Given the description of an element on the screen output the (x, y) to click on. 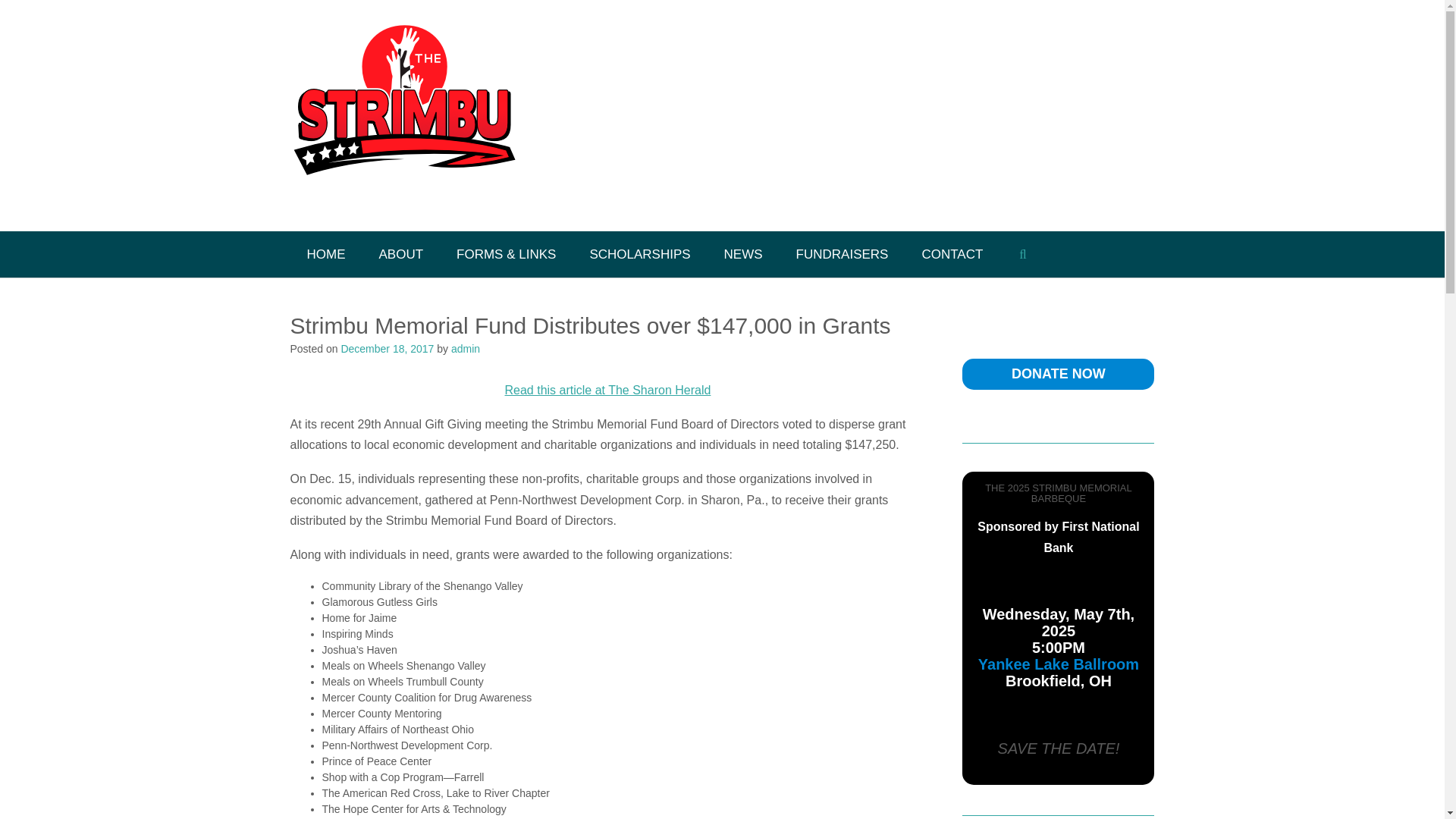
December 18, 2017 (386, 348)
SCHOLARSHIPS (639, 253)
FUNDRAISERS (841, 253)
DONATE NOW (1058, 372)
admin (465, 348)
CONTACT (951, 253)
HOME (325, 253)
Strimbu Memorial Fund - We give a hand up, not a hand out. (402, 116)
ABOUT (401, 253)
Read this article at The Sharon Herald (608, 390)
